Given the description of an element on the screen output the (x, y) to click on. 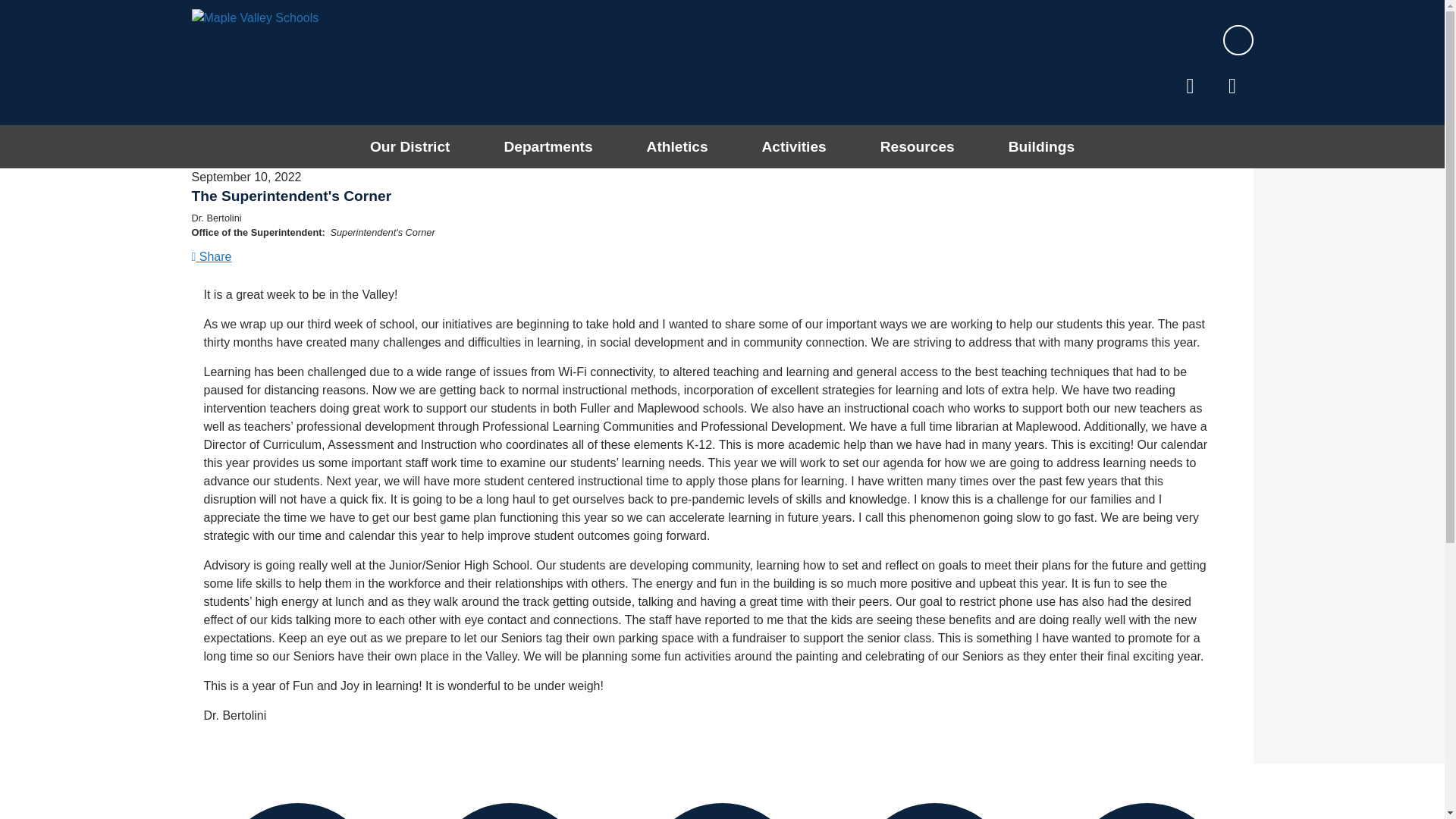
Facebook (1190, 89)
Search (1237, 40)
YouTube (1233, 89)
